Given the description of an element on the screen output the (x, y) to click on. 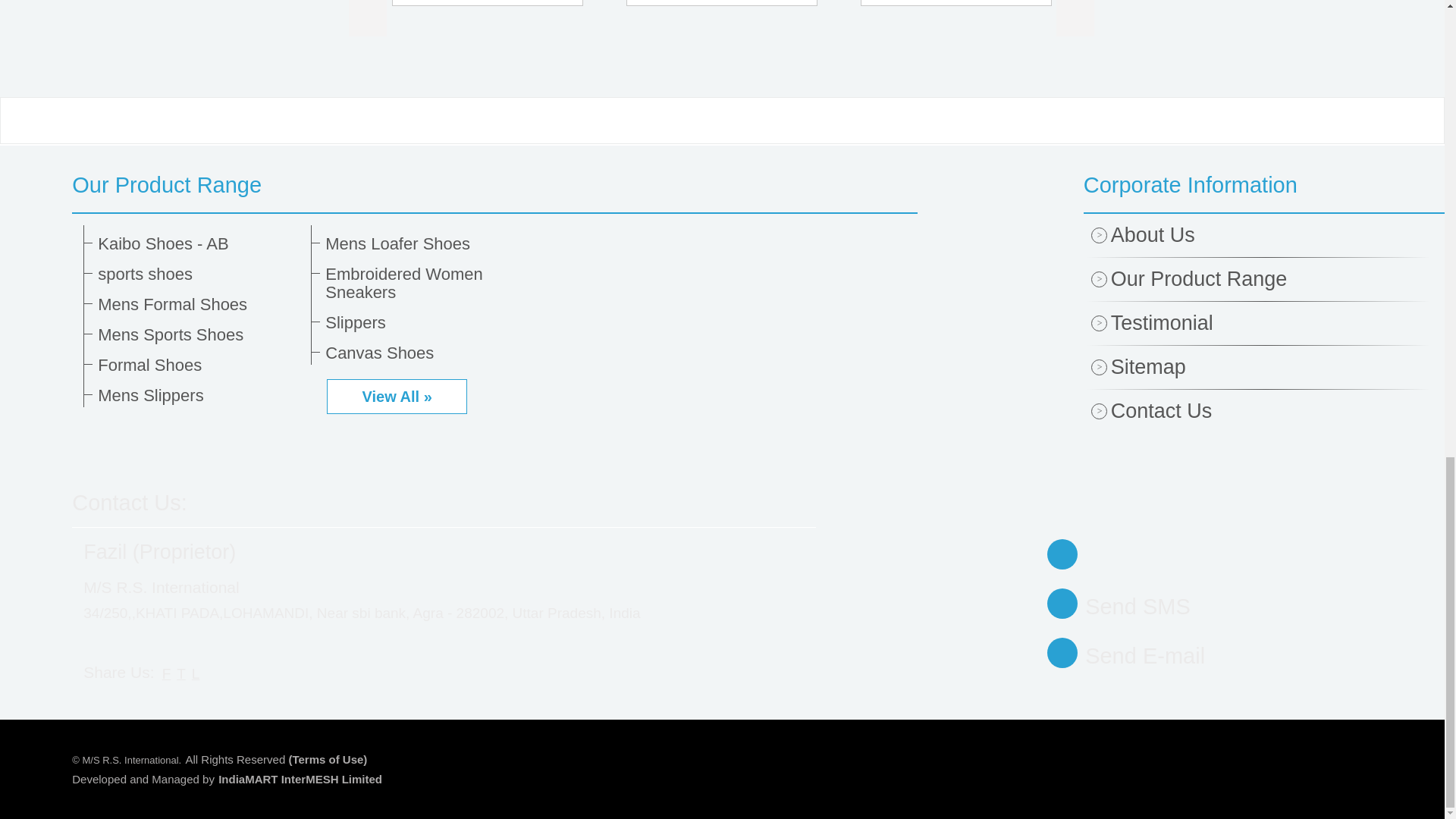
Contact Us: (129, 502)
Formal Shoes (198, 365)
Kaibo Shoes - AB (198, 244)
Slippers (426, 322)
Mens Slippers (198, 395)
Embroidered Women Sneakers (426, 283)
Mens Loafer Shoes (426, 244)
Our Product Range (494, 185)
Canvas Shoes (426, 352)
Mens Formal Shoes (198, 304)
sports shoes (198, 274)
Mens Sports Shoes (198, 334)
